Given the description of an element on the screen output the (x, y) to click on. 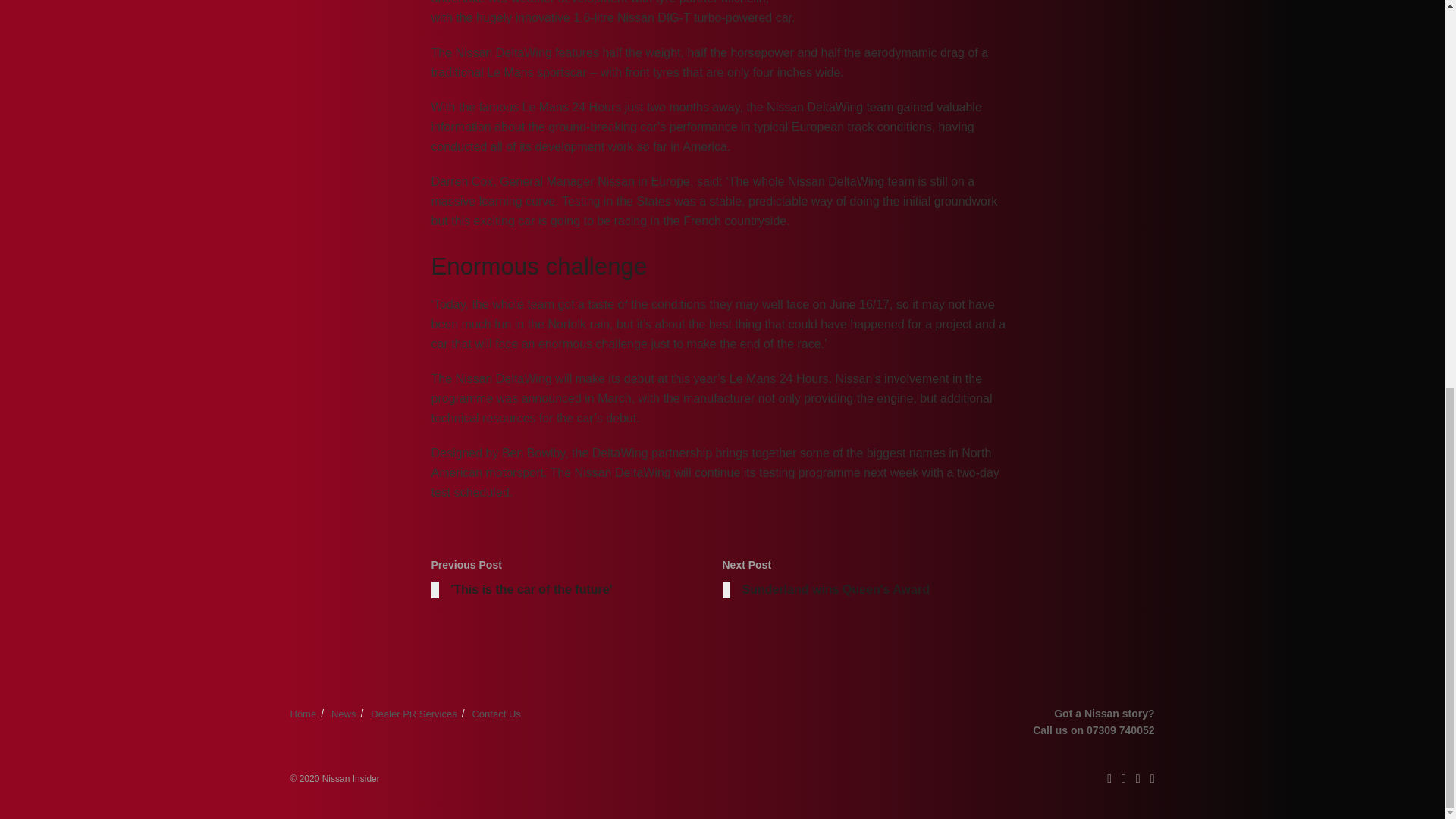
Home (302, 713)
News (867, 581)
Contact Us (576, 581)
Dealer PR Services (343, 713)
